Given the description of an element on the screen output the (x, y) to click on. 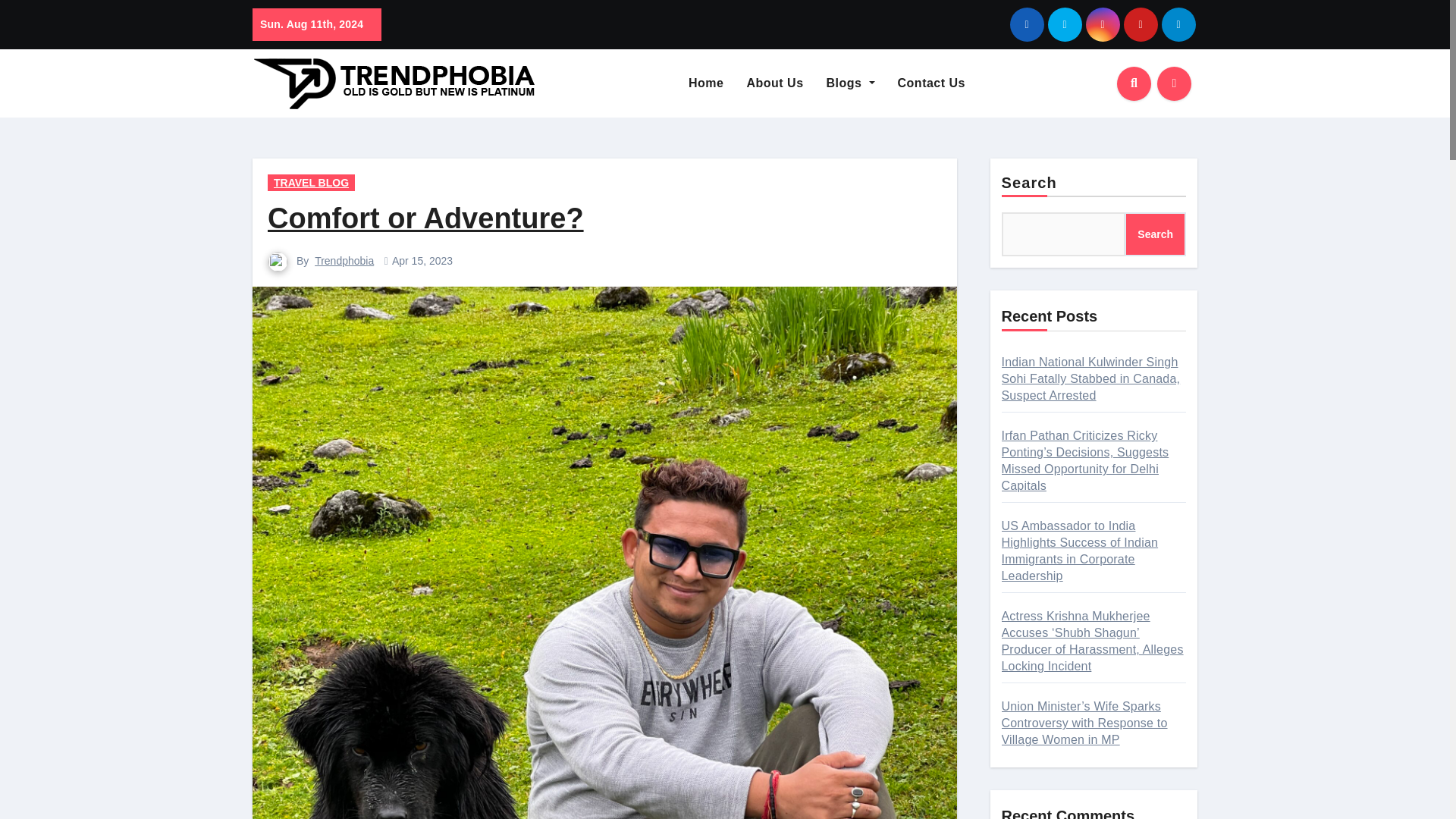
TRAVEL BLOG (311, 182)
Contact Us (931, 83)
Blogs (850, 83)
About Us (774, 83)
Permalink to: Comfort or Adventure? (425, 218)
Contact Us (931, 83)
Home (706, 83)
About Us (774, 83)
Trendphobia (344, 260)
Blogs (850, 83)
